Given the description of an element on the screen output the (x, y) to click on. 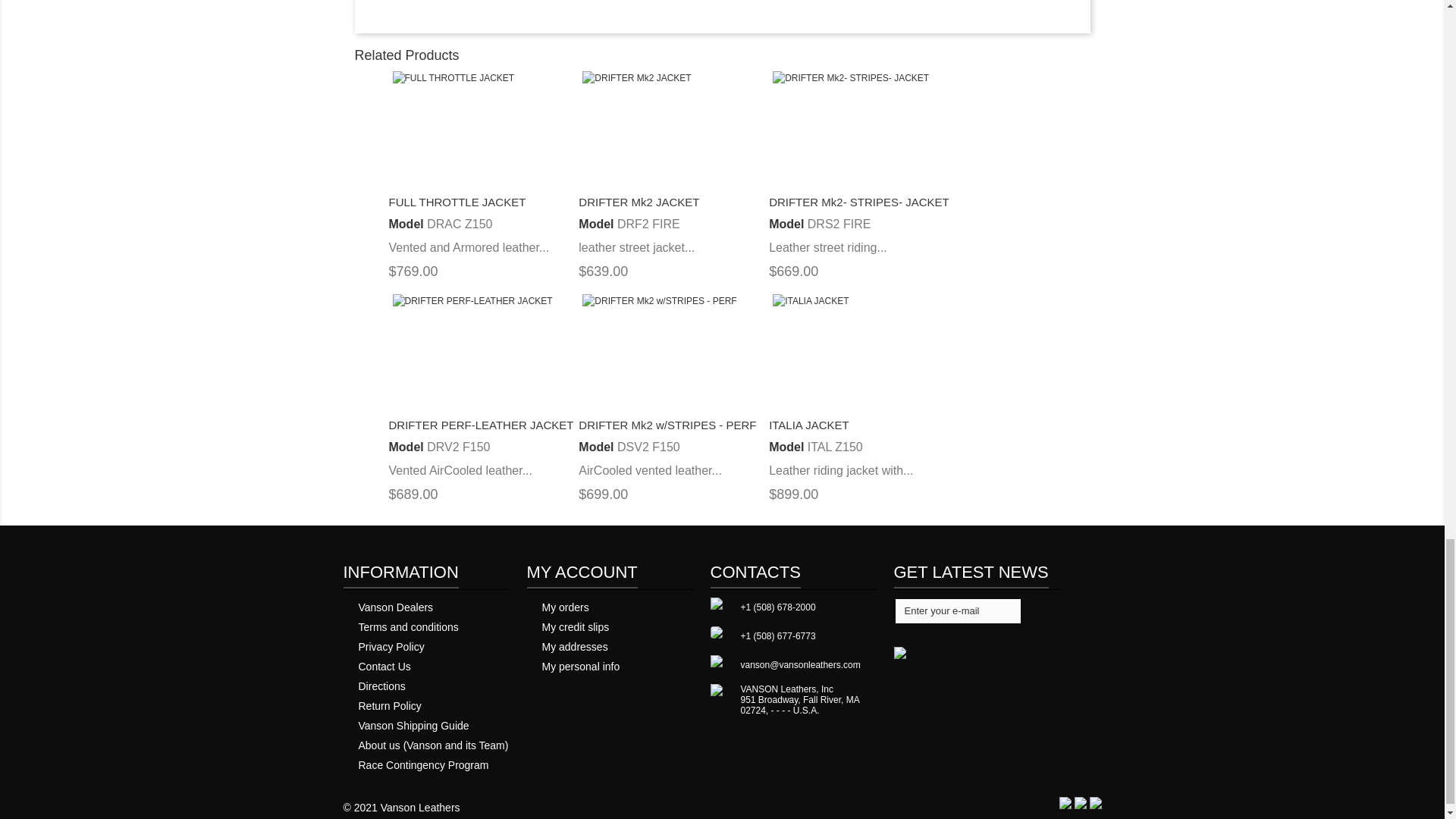
Enter your e-mail (957, 610)
